Given the description of an element on the screen output the (x, y) to click on. 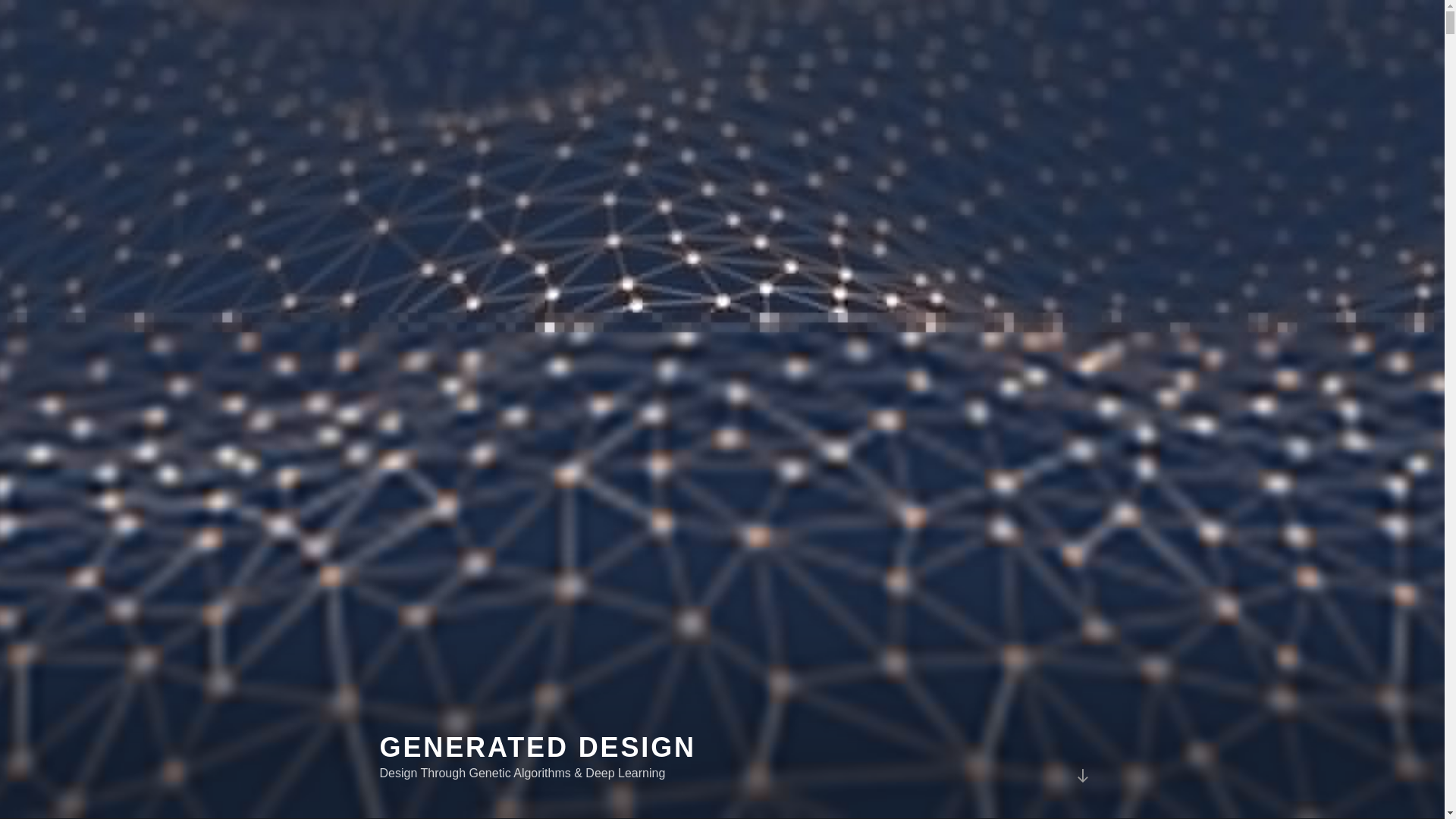
Scroll down to content (1081, 775)
Scroll down to content (1081, 775)
GENERATED DESIGN (536, 747)
